Given the description of an element on the screen output the (x, y) to click on. 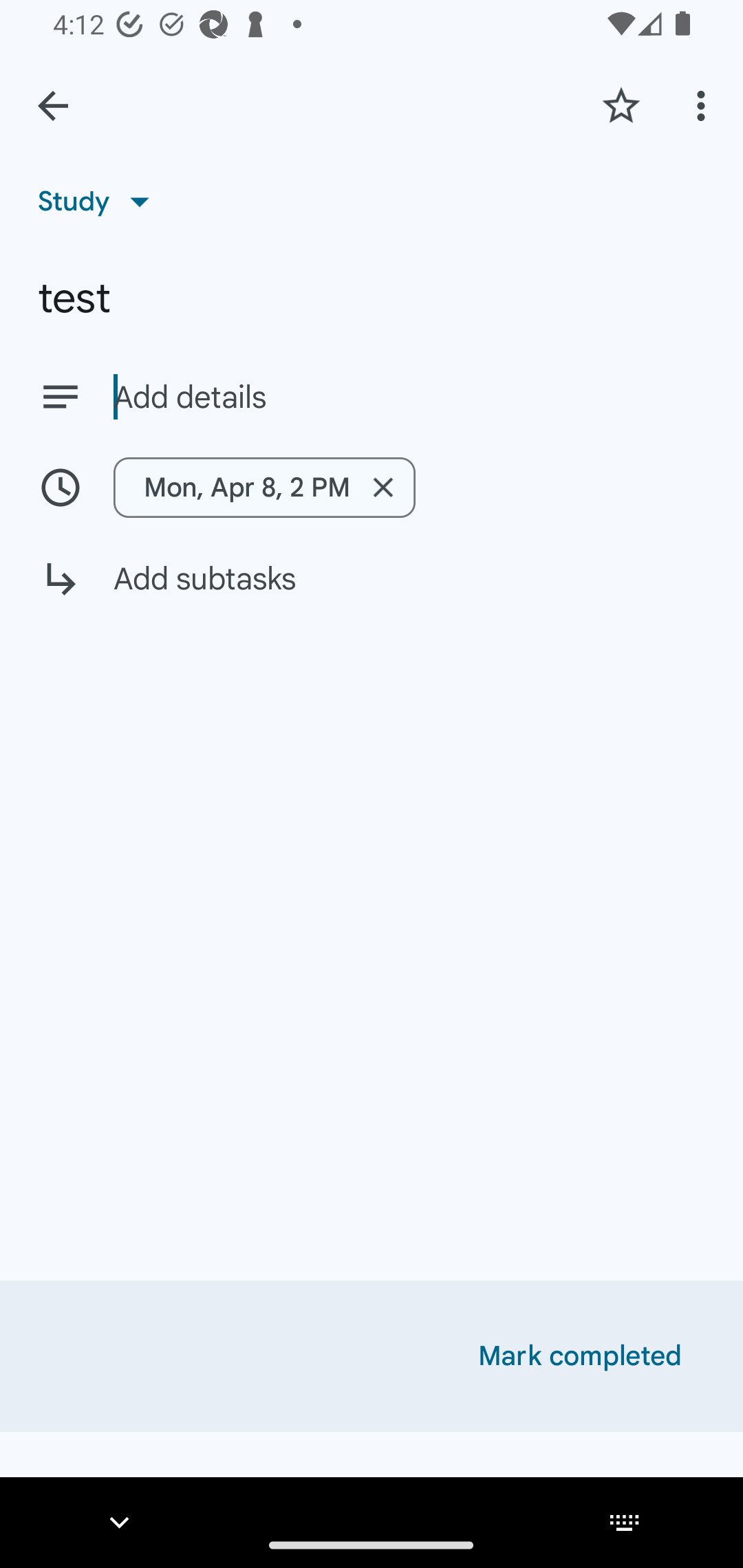
Back (53, 105)
Add star (620, 105)
More options (704, 105)
Study List, Study selected, 1 of 23 (99, 201)
test (371, 298)
Add details (371, 396)
Add details (409, 397)
Mon, Apr 8, 2 PM Remove date/time (371, 487)
Mon, Apr 8, 2 PM Remove date/time (264, 487)
Add subtasks (371, 593)
Mark completed (580, 1355)
